Given the description of an element on the screen output the (x, y) to click on. 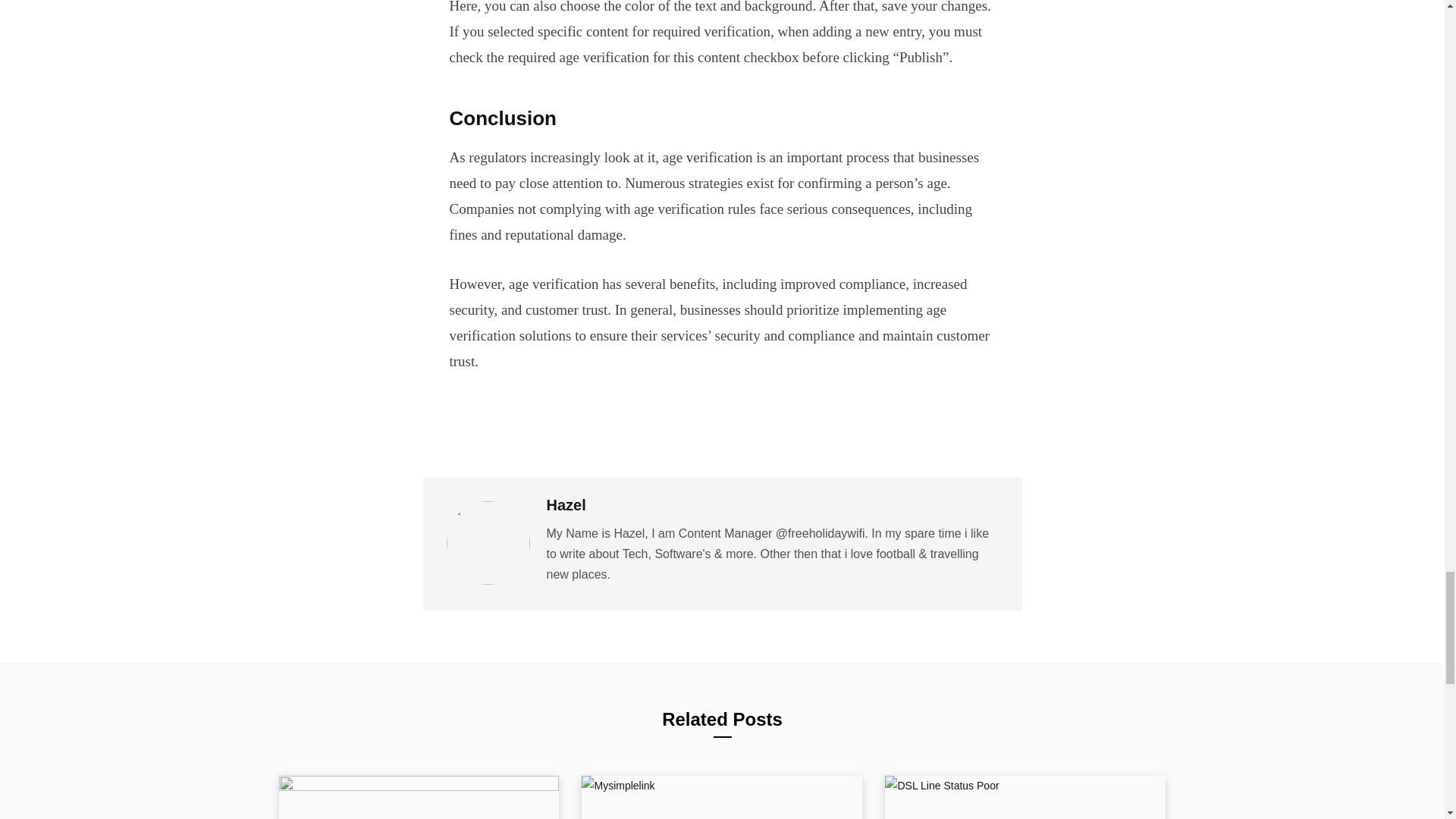
Hazel (565, 504)
5 Ways to Buy Cryptocurrency: (419, 797)
Fixing DSL Line Status Poor With 3 Easiest Methods (1025, 797)
What Is Mysimplelink and Should You Be Worried About? (720, 797)
Posts by Hazel (565, 504)
